Given the description of an element on the screen output the (x, y) to click on. 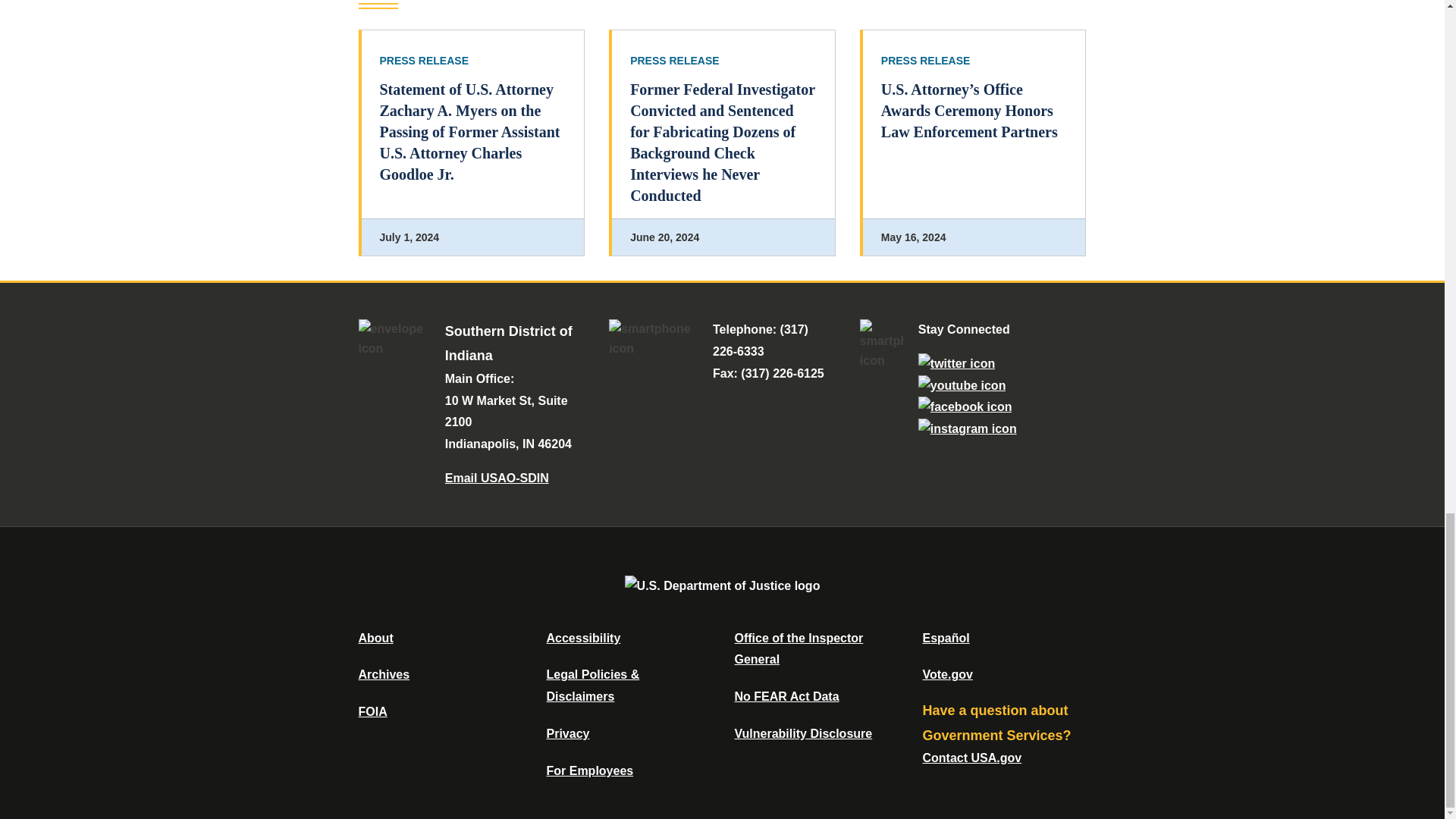
Accessibility Statement (583, 637)
Data Posted Pursuant To The No Fear Act (785, 696)
Office of Information Policy (372, 711)
For Employees (589, 770)
About DOJ (375, 637)
Department of Justice Archive (383, 674)
Legal Policies and Disclaimers (592, 685)
